Given the description of an element on the screen output the (x, y) to click on. 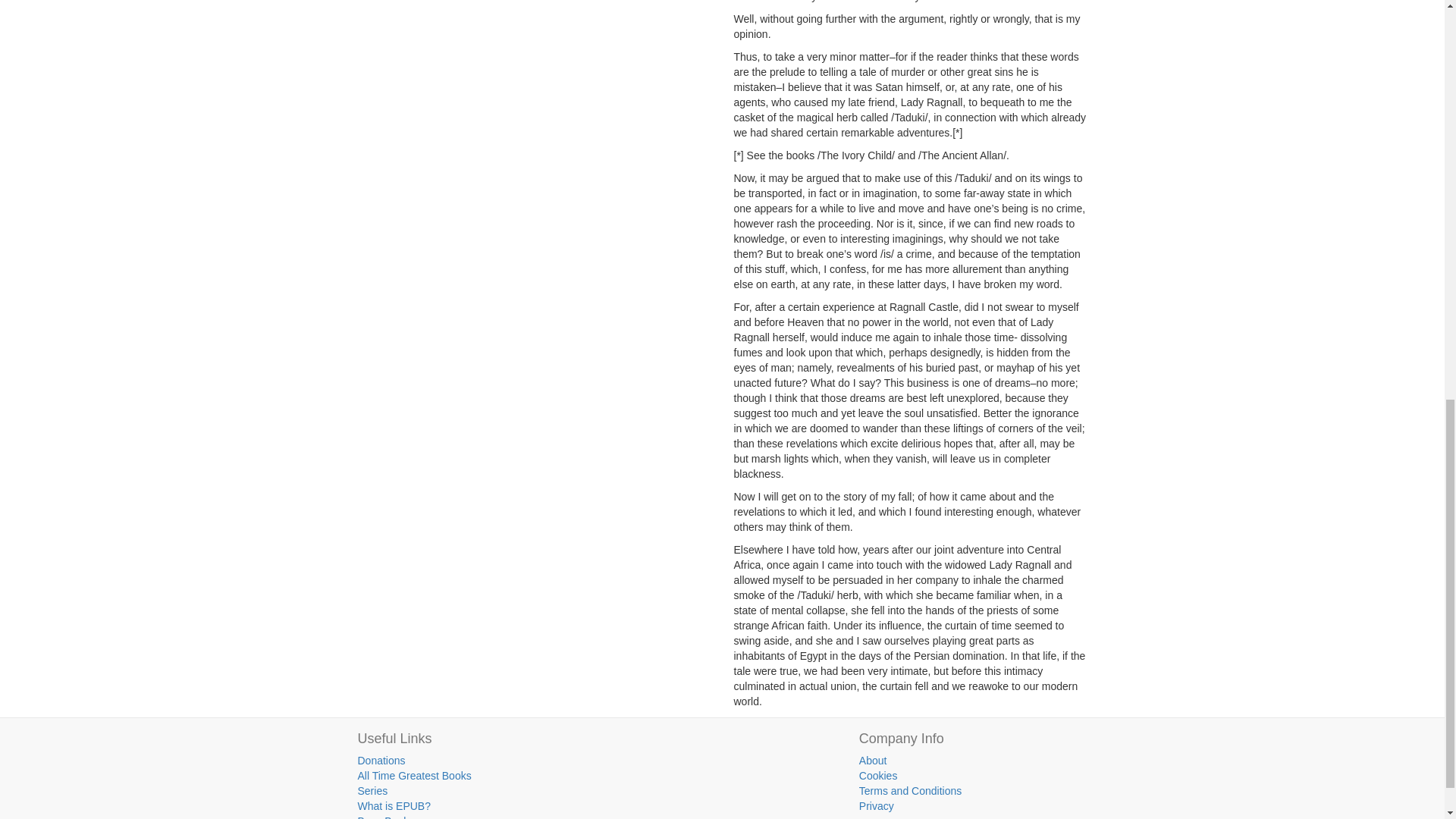
What is EPUB? (394, 806)
Series (373, 790)
Donations (382, 760)
Cookies (878, 775)
All Time Greatest Books (414, 775)
Privacy (876, 806)
Terms and Conditions (909, 790)
About (872, 760)
Buy eBooks (386, 816)
